Given the description of an element on the screen output the (x, y) to click on. 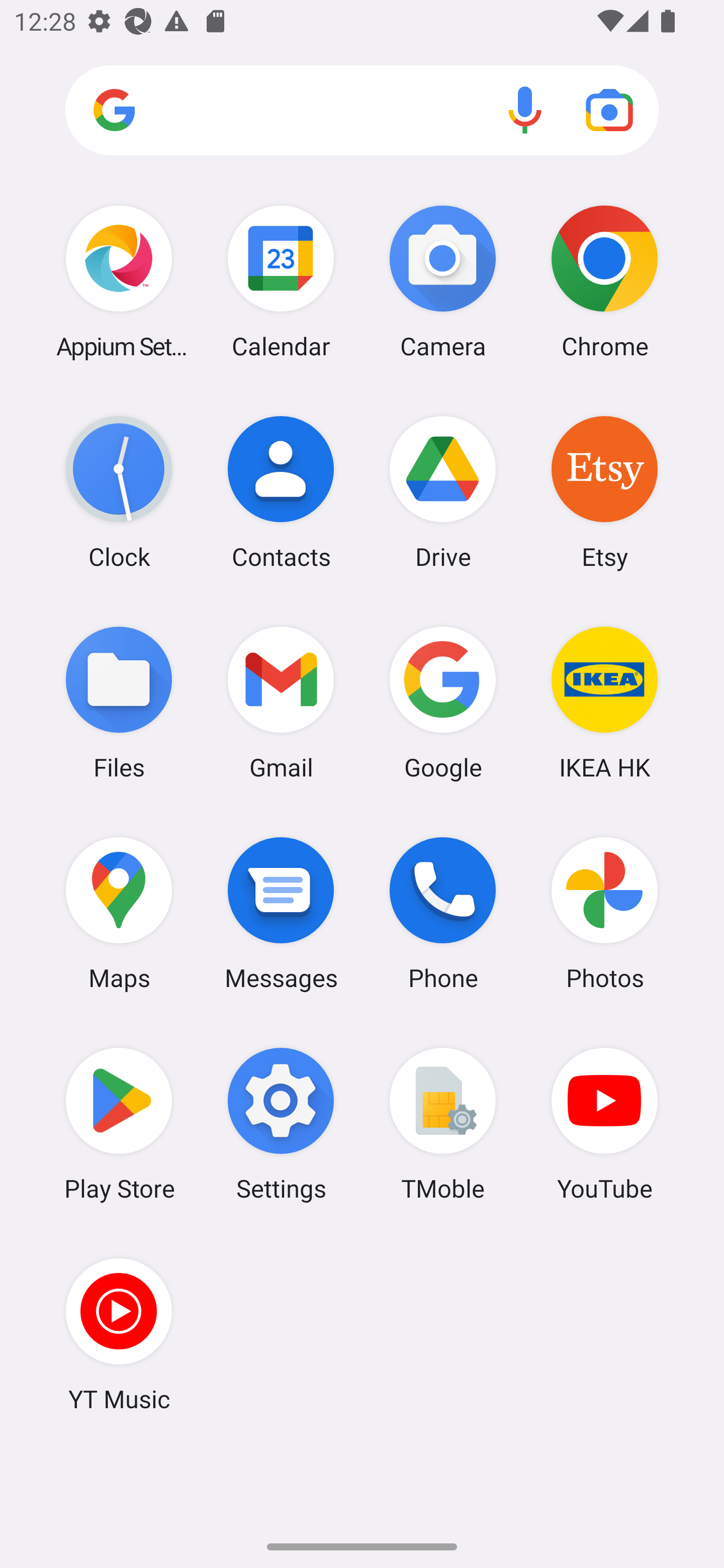
Search apps, web and more (361, 110)
Voice search (524, 109)
Google Lens (608, 109)
Appium Settings (118, 281)
Calendar (280, 281)
Camera (443, 281)
Chrome (604, 281)
Clock (118, 492)
Contacts (280, 492)
Drive (443, 492)
Etsy (604, 492)
Files (118, 702)
Gmail (280, 702)
Google (443, 702)
IKEA HK (604, 702)
Maps (118, 913)
Messages (280, 913)
Phone (443, 913)
Photos (604, 913)
Play Store (118, 1124)
Settings (280, 1124)
TMoble (443, 1124)
YouTube (604, 1124)
YT Music (118, 1334)
